Given the description of an element on the screen output the (x, y) to click on. 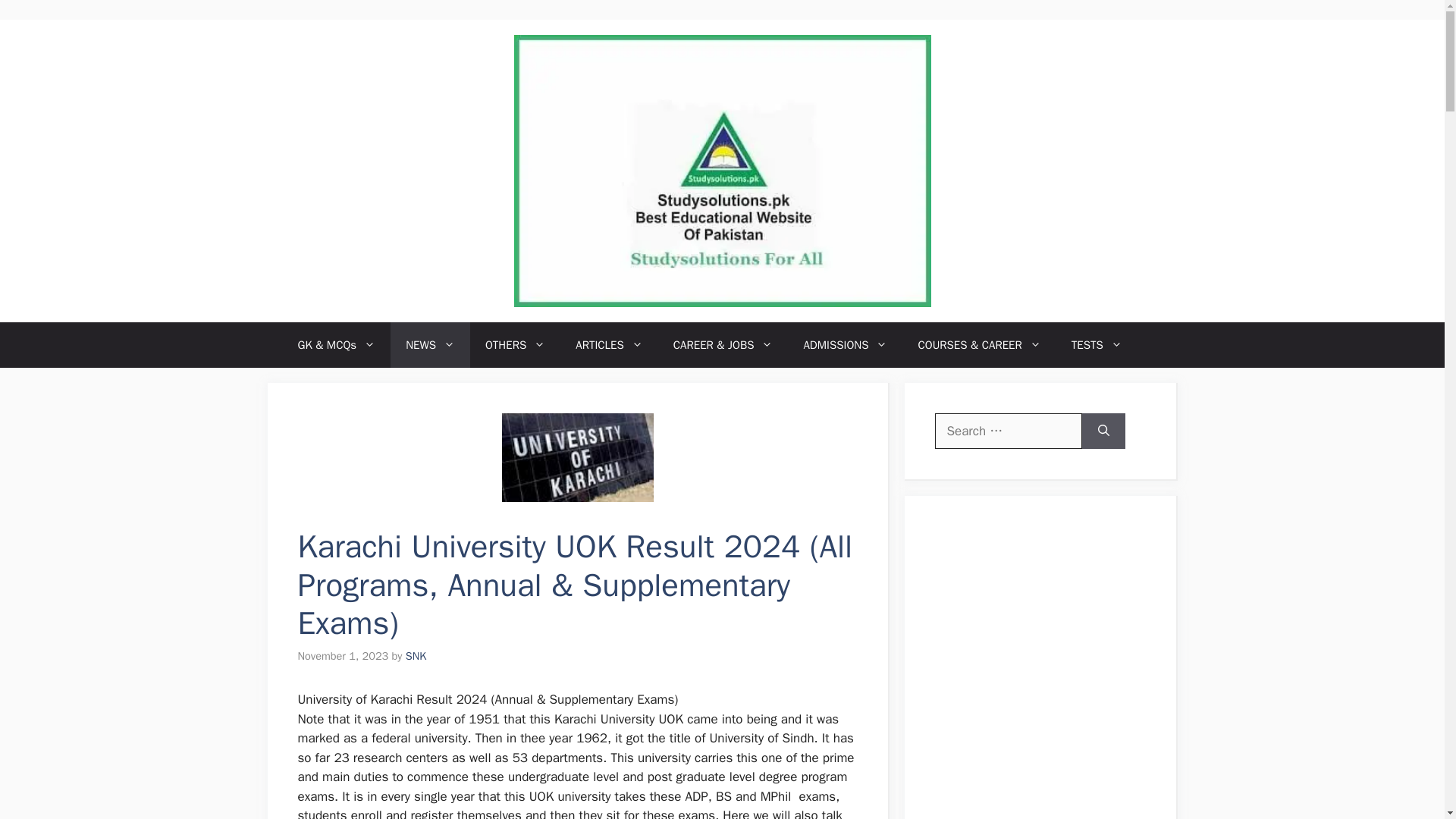
ARTICLES (609, 344)
ADMISSIONS (844, 344)
OTHERS (515, 344)
View all posts by SNK (416, 655)
NEWS (430, 344)
